Given the description of an element on the screen output the (x, y) to click on. 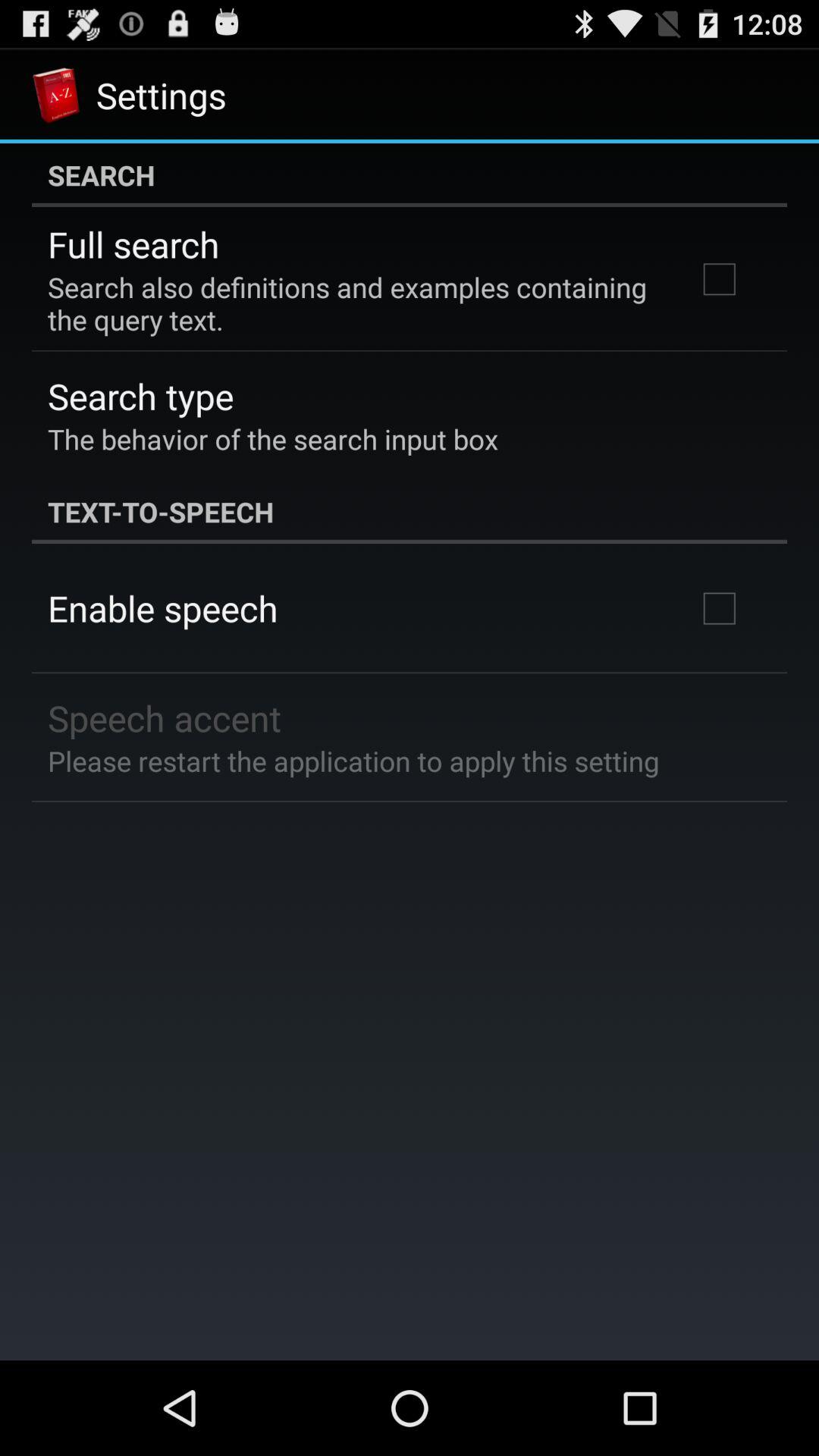
launch the item above search also definitions icon (133, 244)
